Given the description of an element on the screen output the (x, y) to click on. 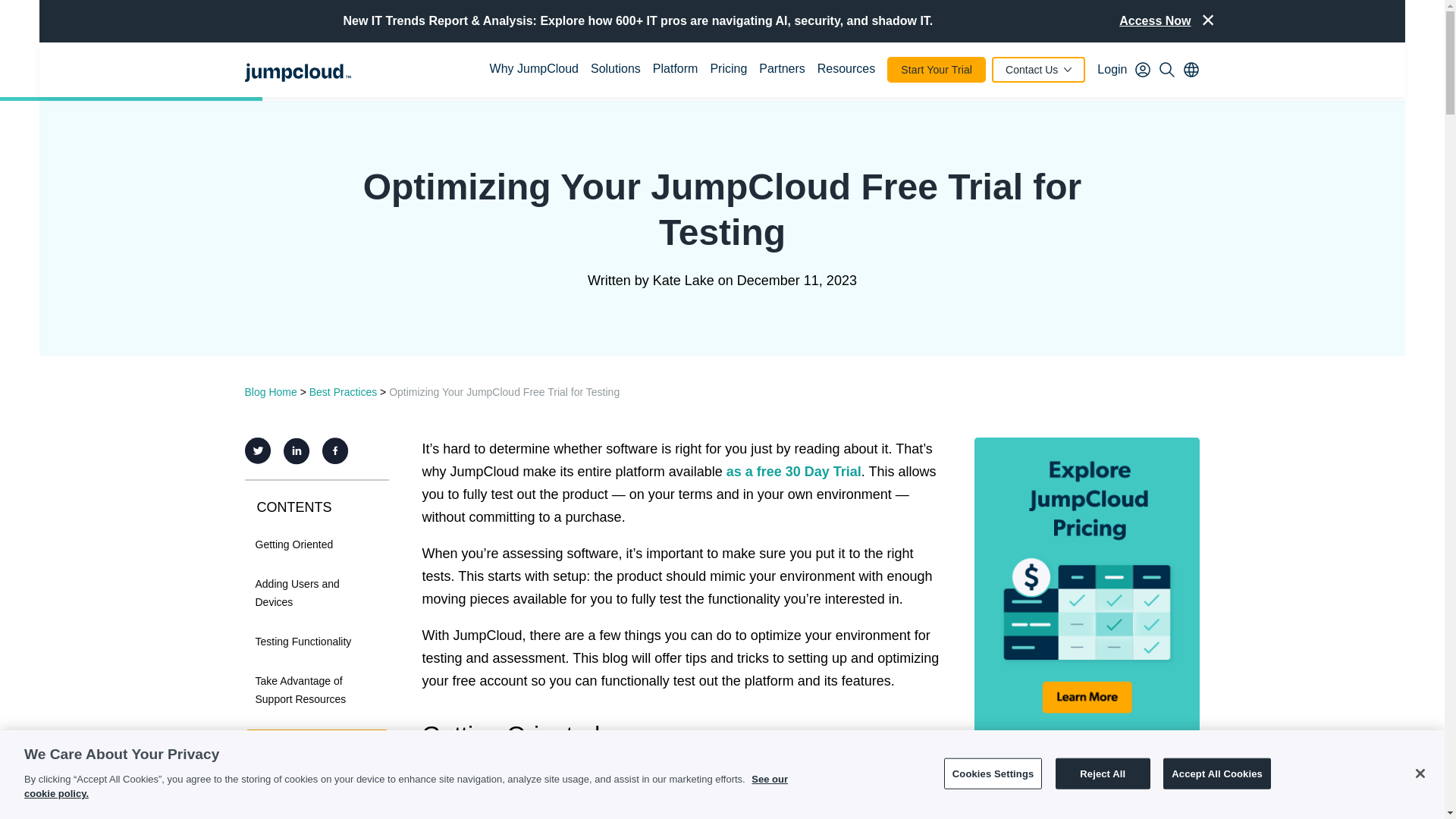
Access Now (1155, 21)
Solutions (615, 69)
Platform (675, 69)
Why JumpCloud (533, 69)
